Given the description of an element on the screen output the (x, y) to click on. 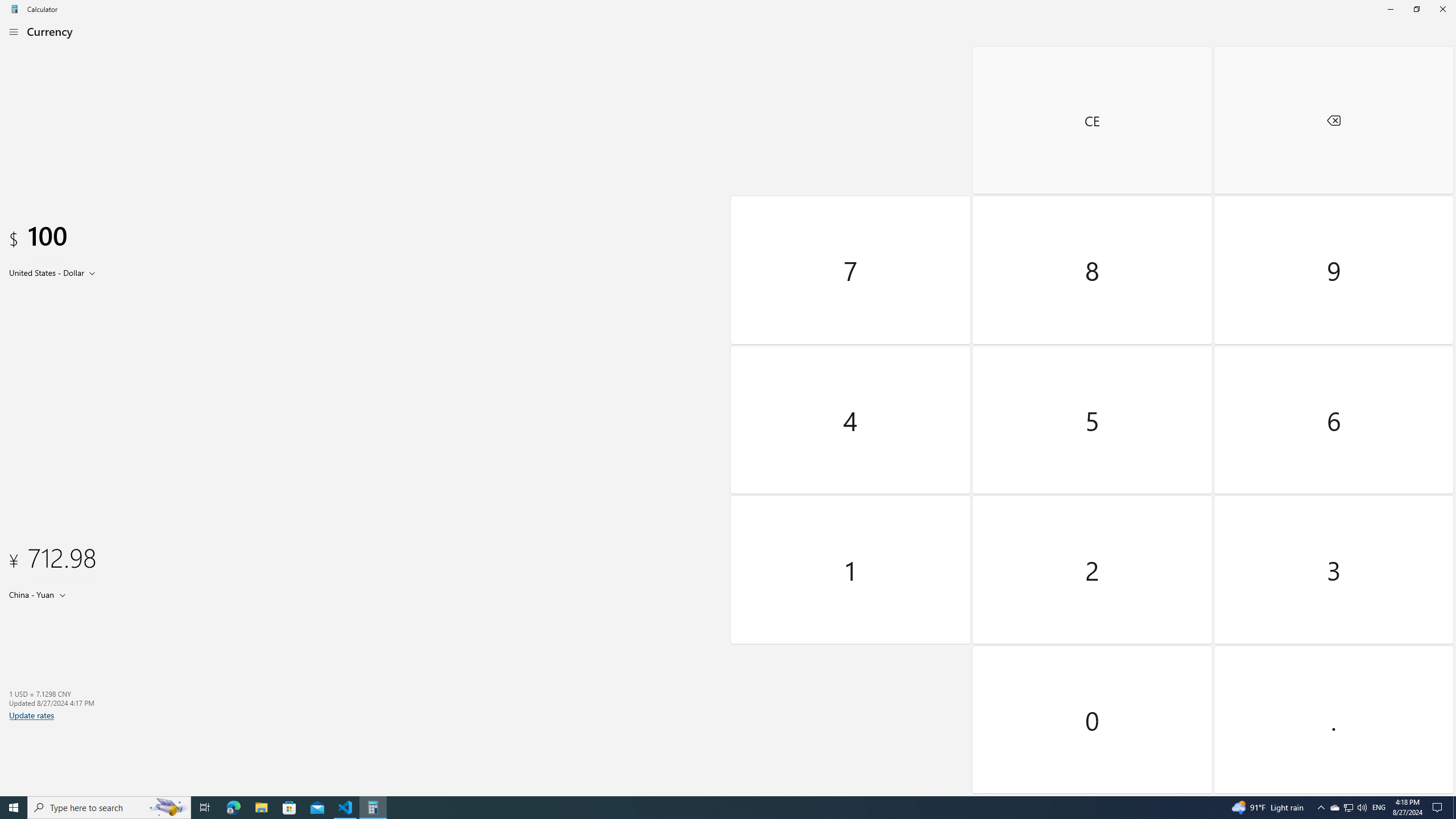
Zero (1092, 719)
Clear entry (1092, 119)
Six (1333, 419)
Decimal separator (1333, 719)
Three (1333, 569)
Minimize Calculator (1390, 9)
Input unit (54, 272)
Update rates (31, 715)
